Given the description of an element on the screen output the (x, y) to click on. 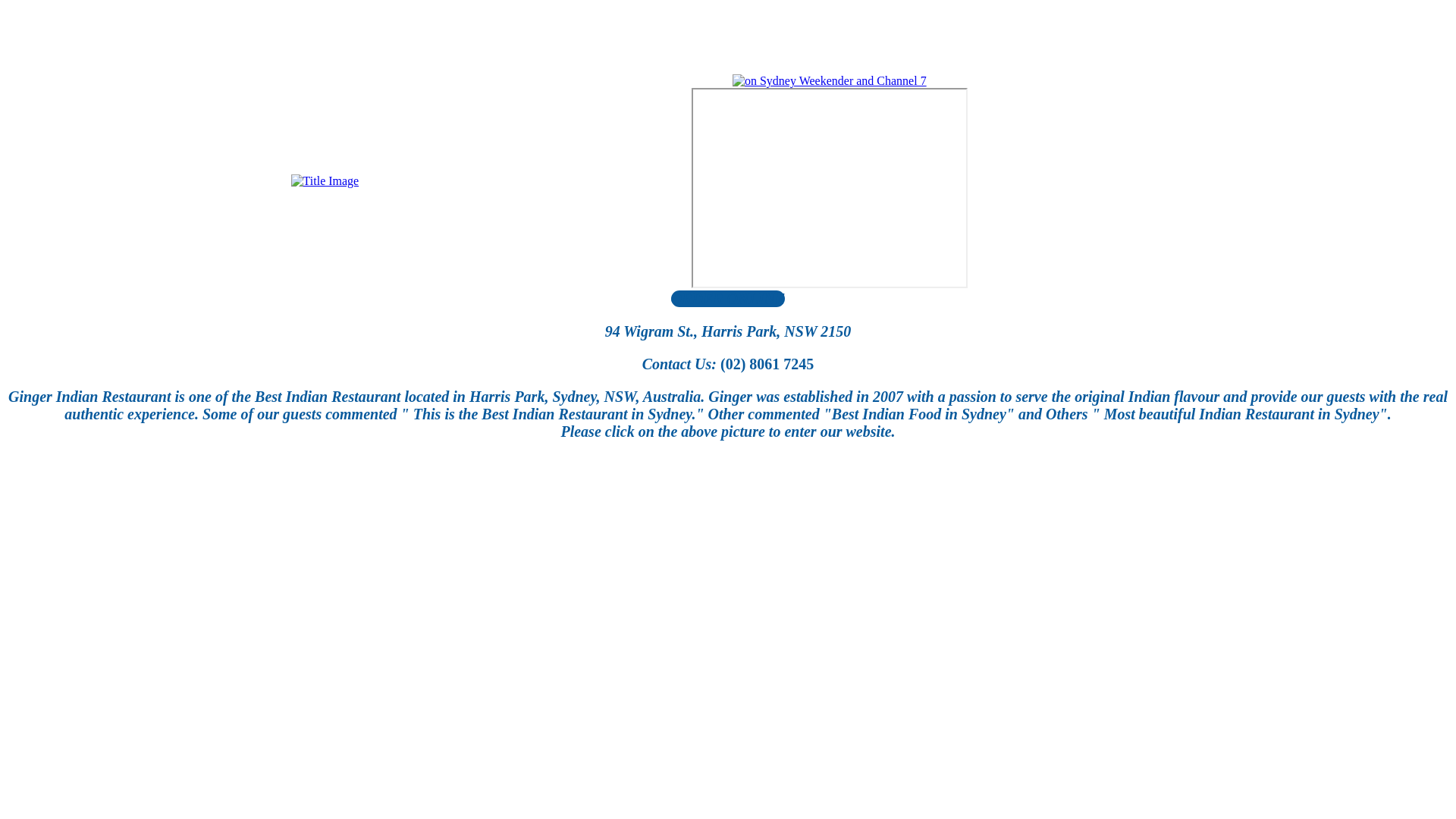
ON CHANNEL 7 Element type: hover (829, 187)
